Given the description of an element on the screen output the (x, y) to click on. 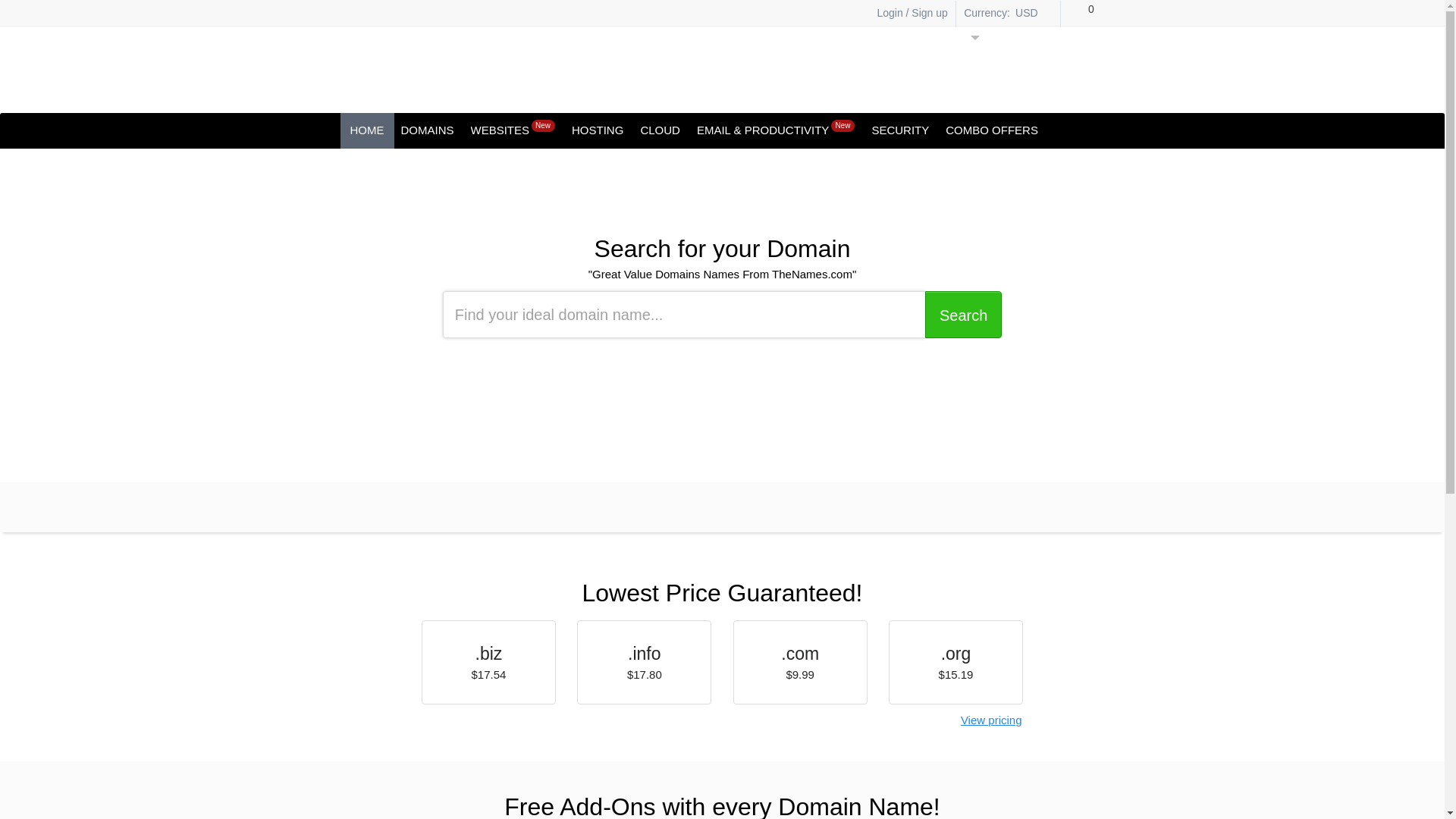
Search Element type: text (963, 314)
HOME Element type: text (367, 130)
Login / Sign up Element type: text (905, 12)
WEBSITESNew Element type: text (512, 130)
HOSTING Element type: text (597, 130)
SECURITY Element type: text (899, 130)
CLOUD Element type: text (660, 130)
EMAIL & PRODUCTIVITYNew Element type: text (775, 130)
View pricing Element type: text (991, 719)
DOMAINS Element type: text (426, 130)
COMBO OFFERS Element type: text (991, 130)
0 Element type: text (1082, 15)
